Given the description of an element on the screen output the (x, y) to click on. 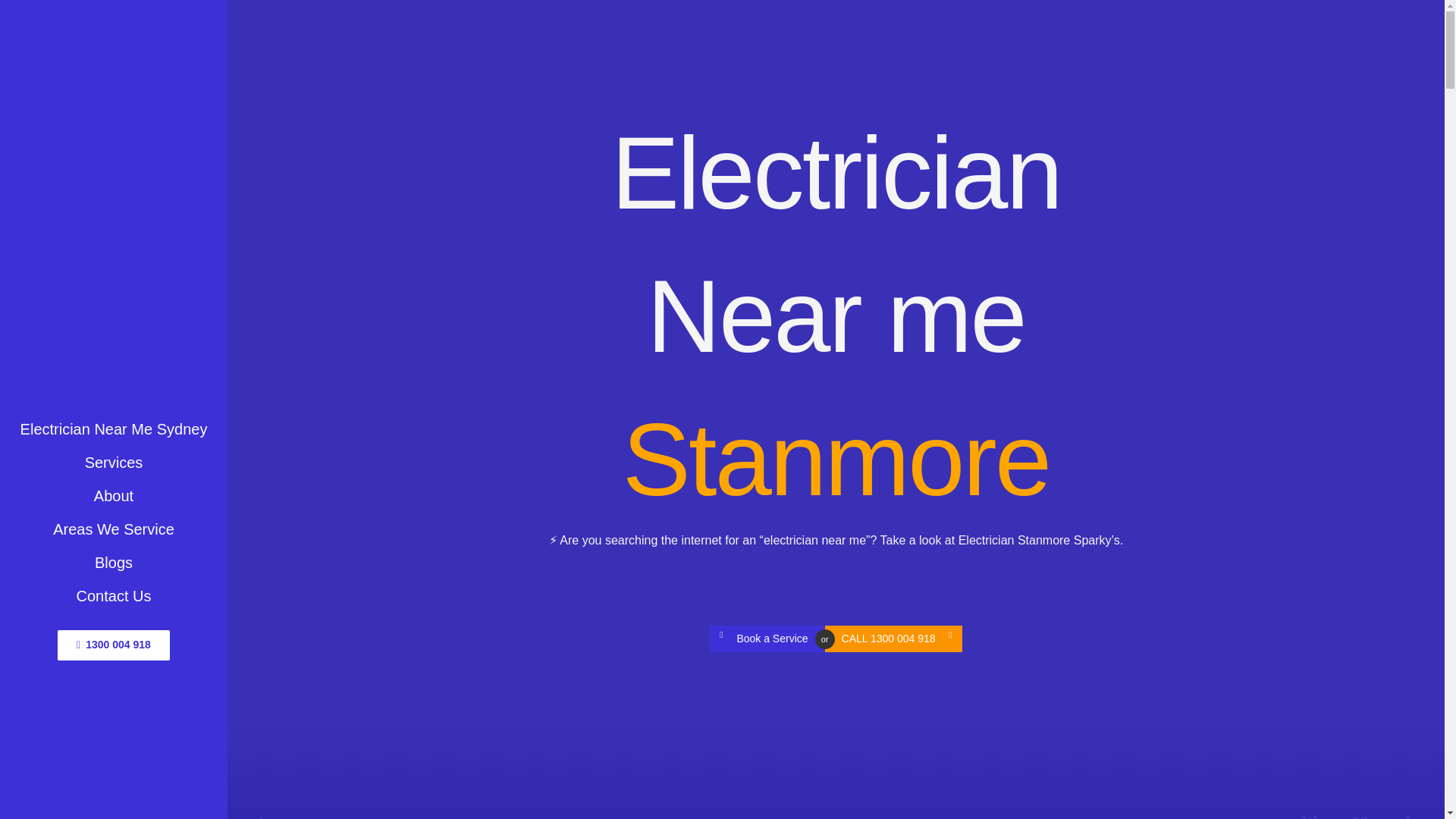
Services (113, 462)
1300 004 918 (114, 644)
About (113, 495)
CALL 1300 004 918 (893, 638)
Blogs (113, 562)
Electrician Near Me Sydney (113, 428)
Areas We Service (113, 529)
Book a Service (767, 638)
Contact Us (113, 595)
